Given the description of an element on the screen output the (x, y) to click on. 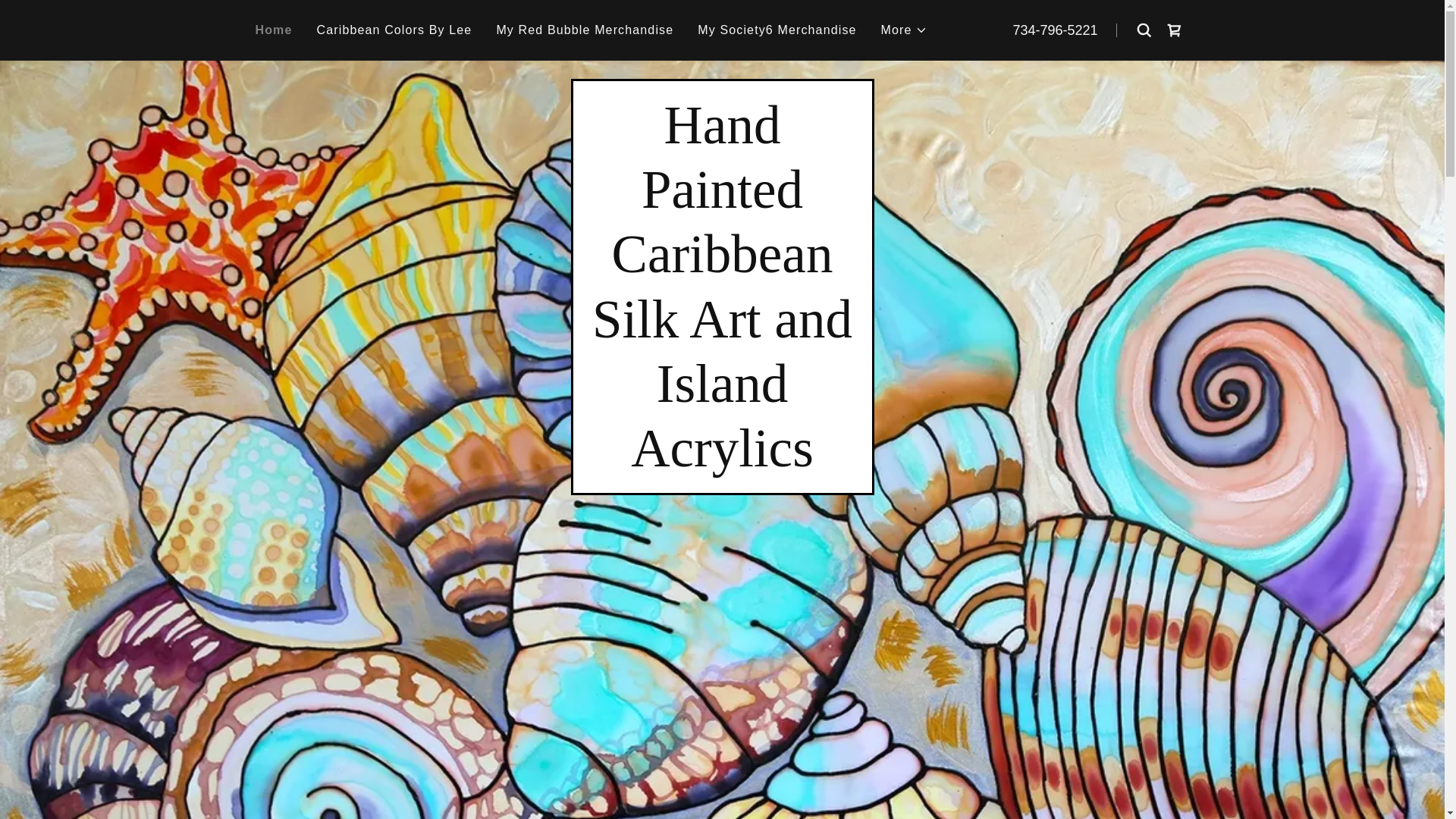
734-796-5221 (1054, 29)
Caribbean Colors By Lee (395, 30)
My Red Bubble Merchandise (585, 30)
Hand Painted Caribbean Silk Art and Island Acrylics (722, 461)
More (903, 30)
My Society6 Merchandise (776, 30)
Home (273, 30)
Hand Painted Caribbean Silk Art and Island Acrylics (722, 461)
